Given the description of an element on the screen output the (x, y) to click on. 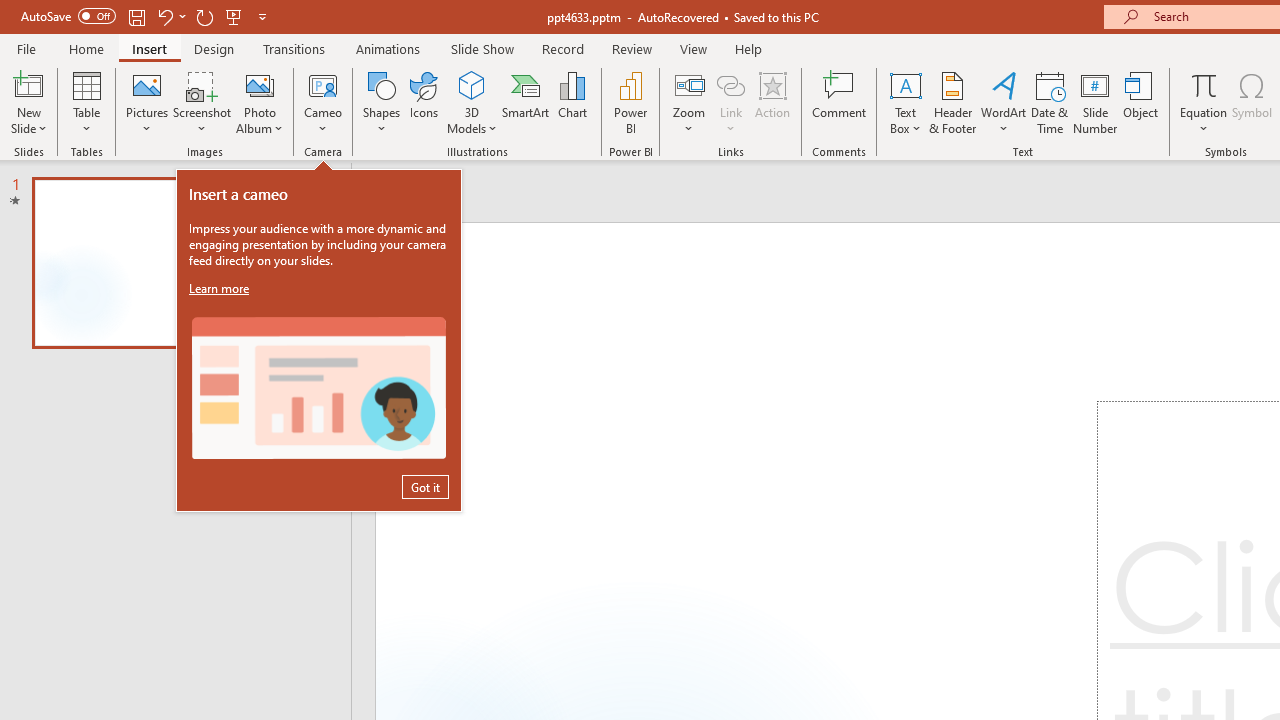
Slide Number (1095, 102)
Action (772, 102)
Draw Horizontal Text Box (905, 84)
Power BI (630, 102)
3D Models (472, 84)
Screenshot (202, 102)
3D Models (472, 102)
Table (86, 102)
